Given the description of an element on the screen output the (x, y) to click on. 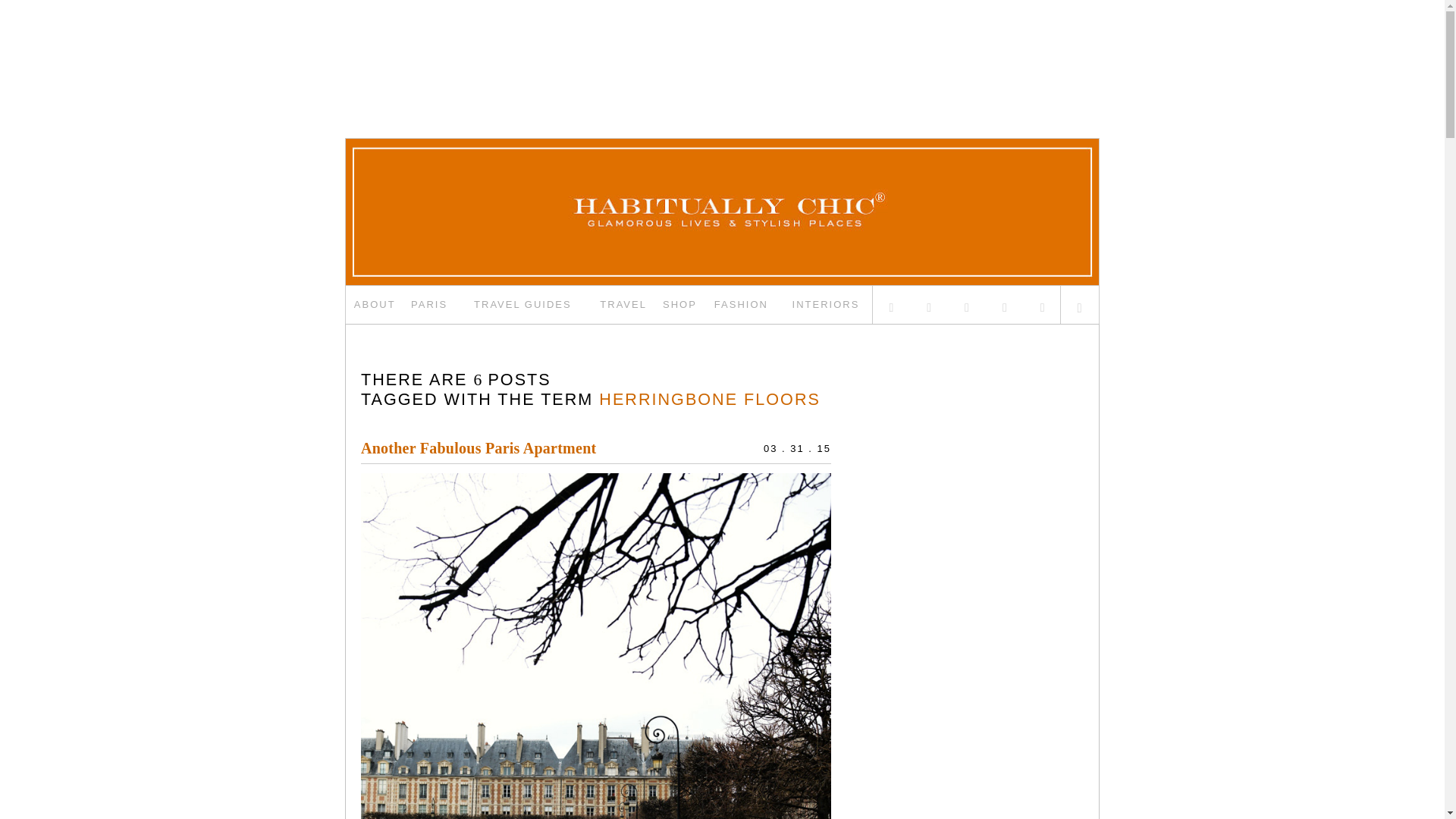
View This Post (478, 447)
facebook (930, 304)
TRAVEL GUIDES (523, 304)
SHOP (679, 304)
instagram (968, 304)
pinterest (1004, 304)
INTERIORS (826, 304)
bloglovin (1042, 304)
Advertisement (721, 47)
Another Fabulous Paris Apartment (478, 447)
FASHION (741, 304)
TRAVEL (622, 304)
twitter (891, 304)
ABOUT (374, 304)
